Given the description of an element on the screen output the (x, y) to click on. 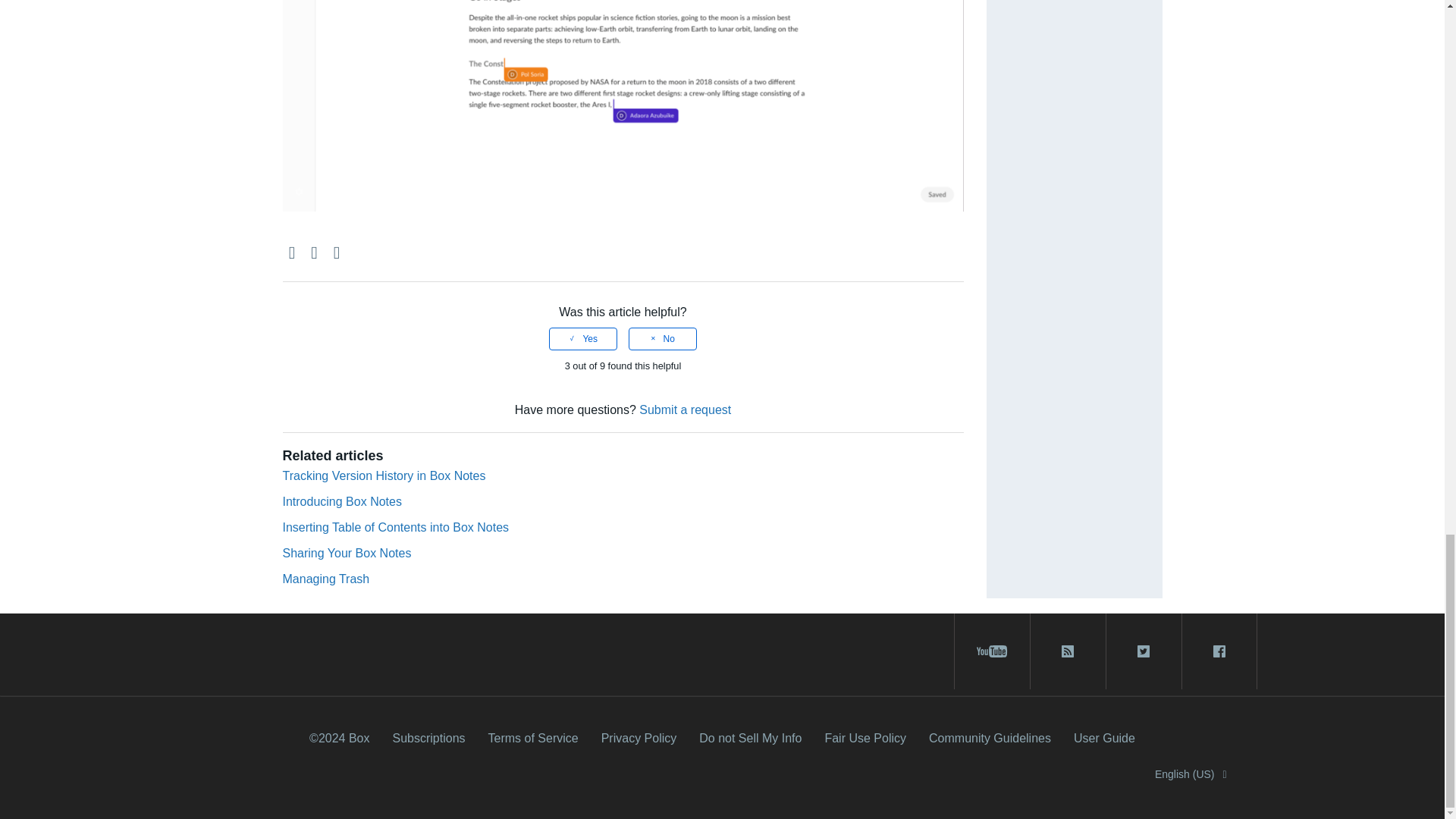
Yes (582, 338)
No (662, 338)
